Given the description of an element on the screen output the (x, y) to click on. 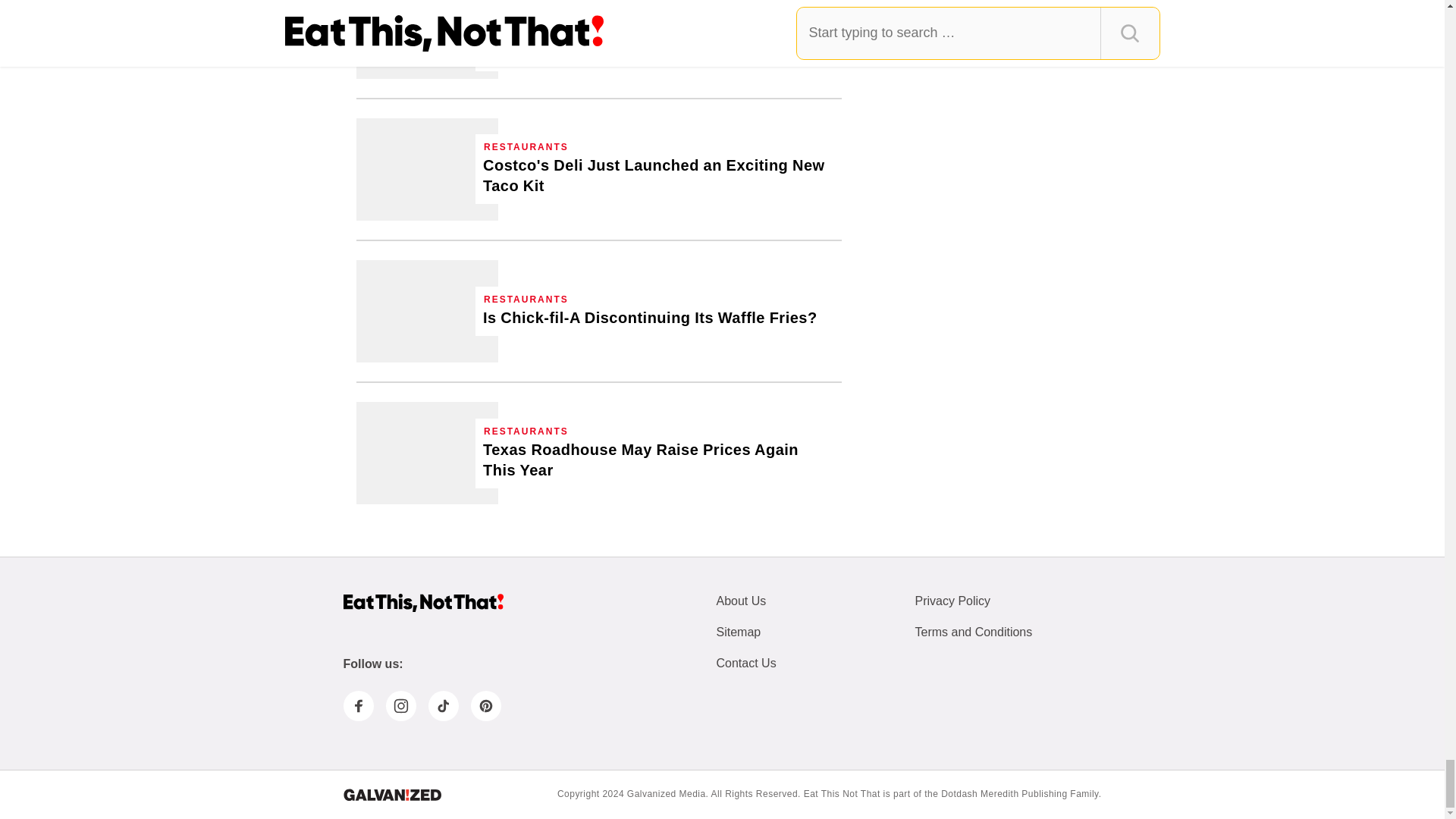
Costco's Deli Just Launched an Exciting New Taco Kit (426, 168)
Texas Roadhouse May Raise Prices Again This Year (658, 459)
Texas Roadhouse May Raise Prices Again This Year (426, 453)
Costco's Deli Just Launched an Exciting New Taco Kit (658, 175)
